Given the description of an element on the screen output the (x, y) to click on. 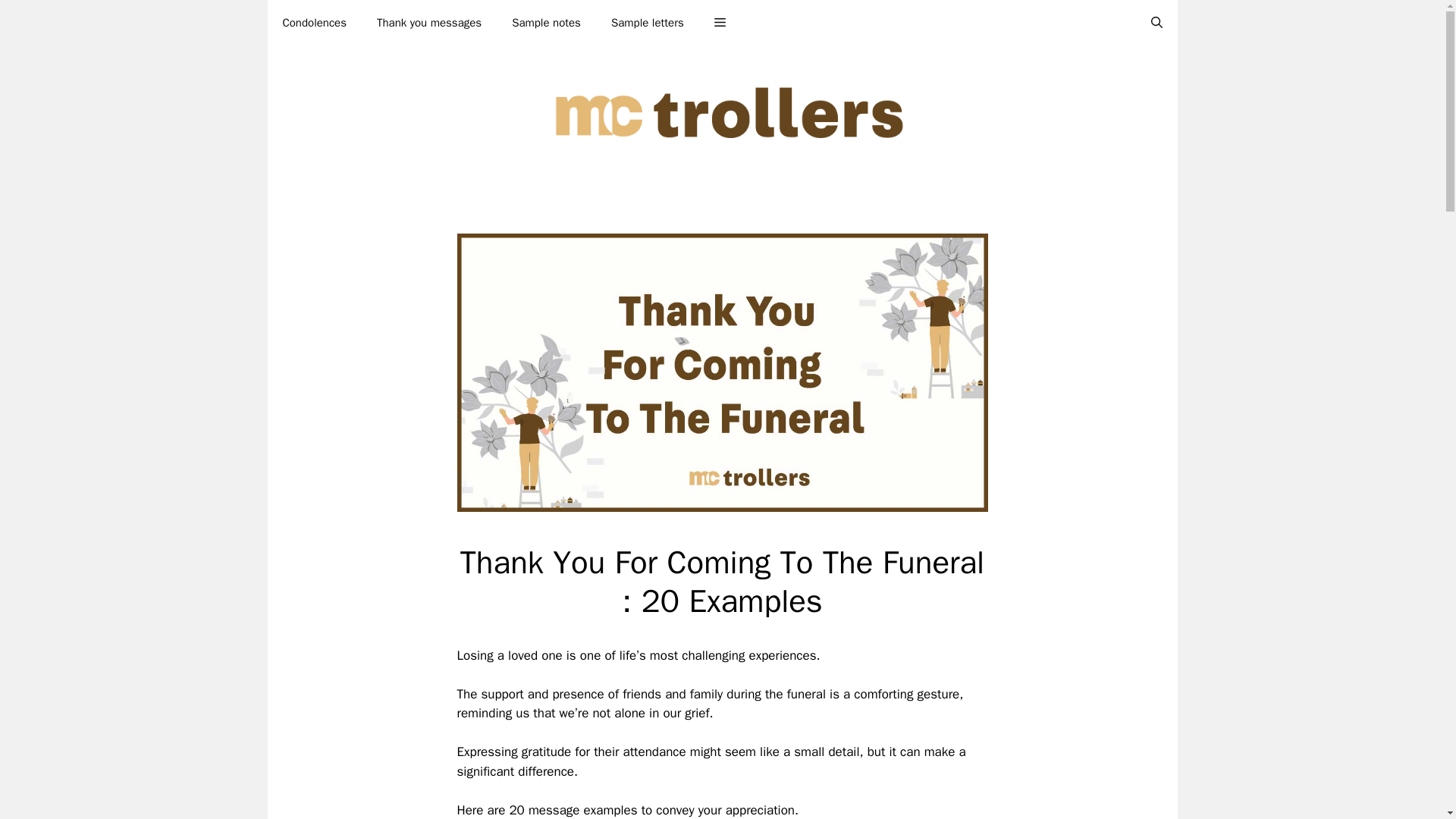
Condolences (313, 22)
Sample letters (646, 22)
Sample notes (545, 22)
Thank you messages (428, 22)
